Given the description of an element on the screen output the (x, y) to click on. 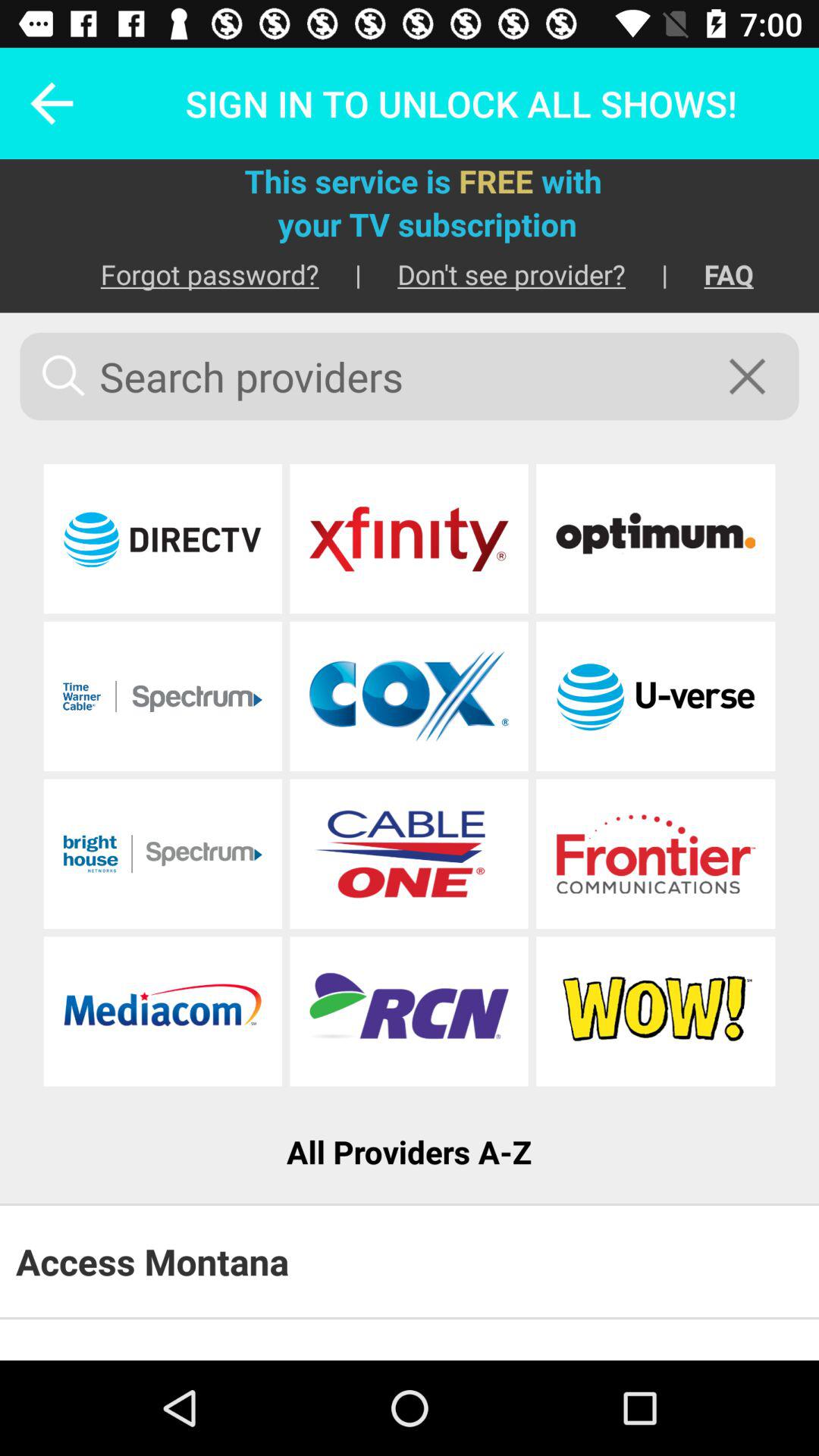
go back to the previous page (41, 103)
